Given the description of an element on the screen output the (x, y) to click on. 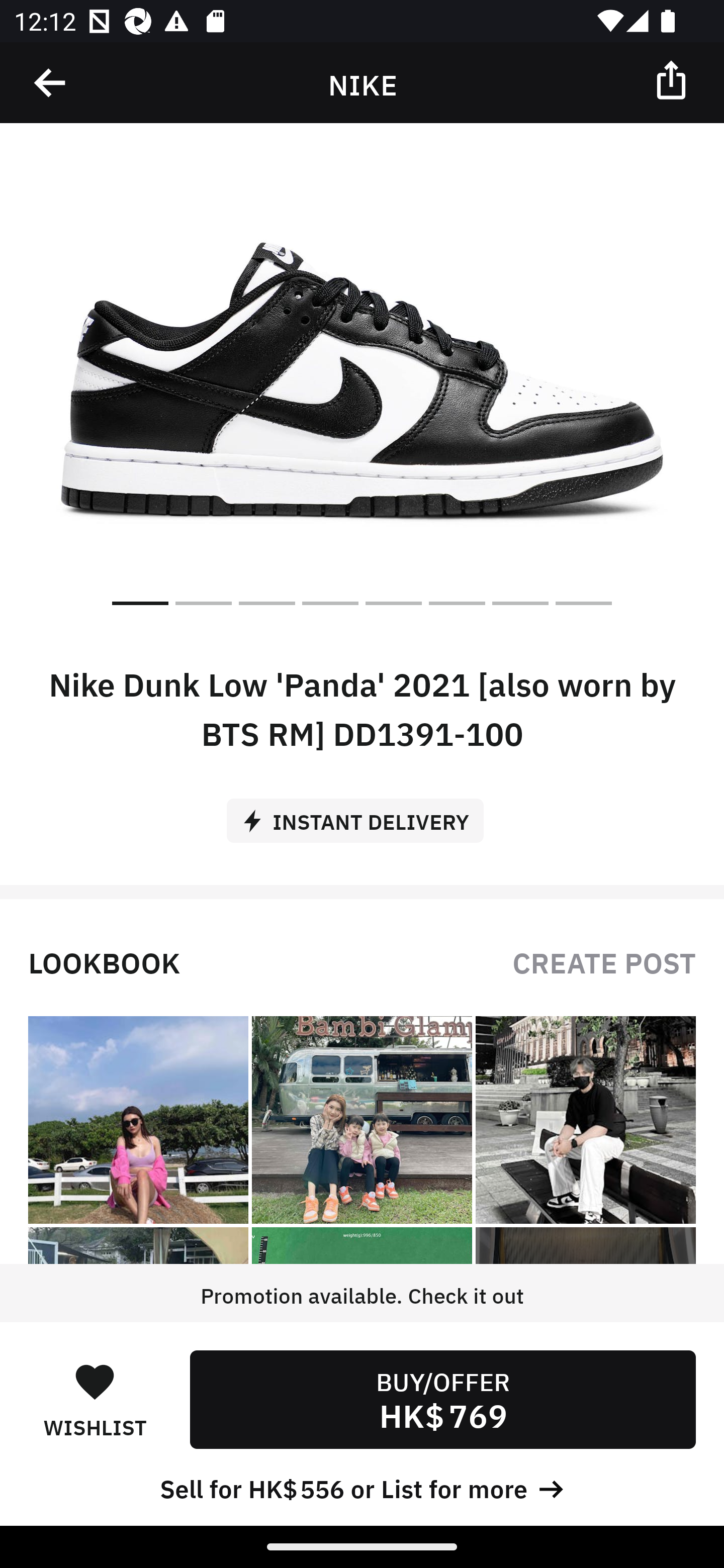
 (50, 83)
 (672, 79)
 INSTANT DELIVERY (362, 813)
CREATE POST (603, 960)
BUY/OFFER HK$ 769 (442, 1399)
󰋑 (94, 1380)
Sell for HK$ 556 or List for more (361, 1486)
